Given the description of an element on the screen output the (x, y) to click on. 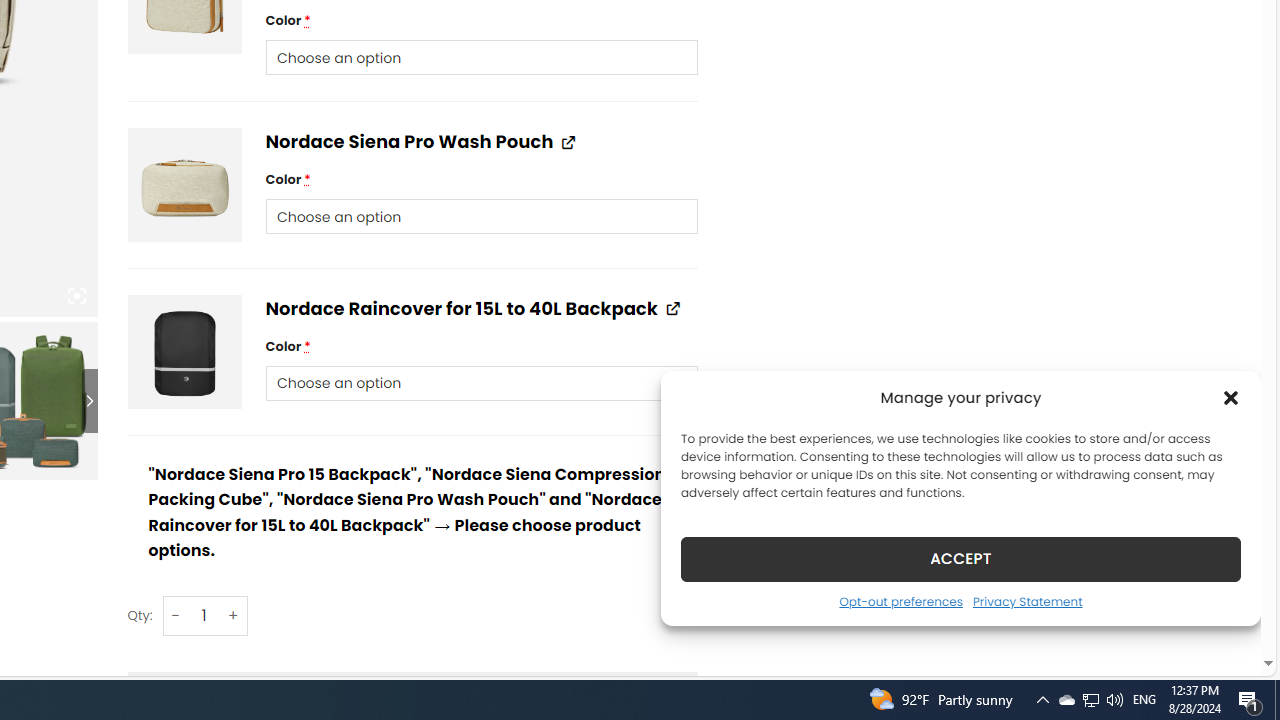
Class: cmplz-close (1231, 397)
